Given the description of an element on the screen output the (x, y) to click on. 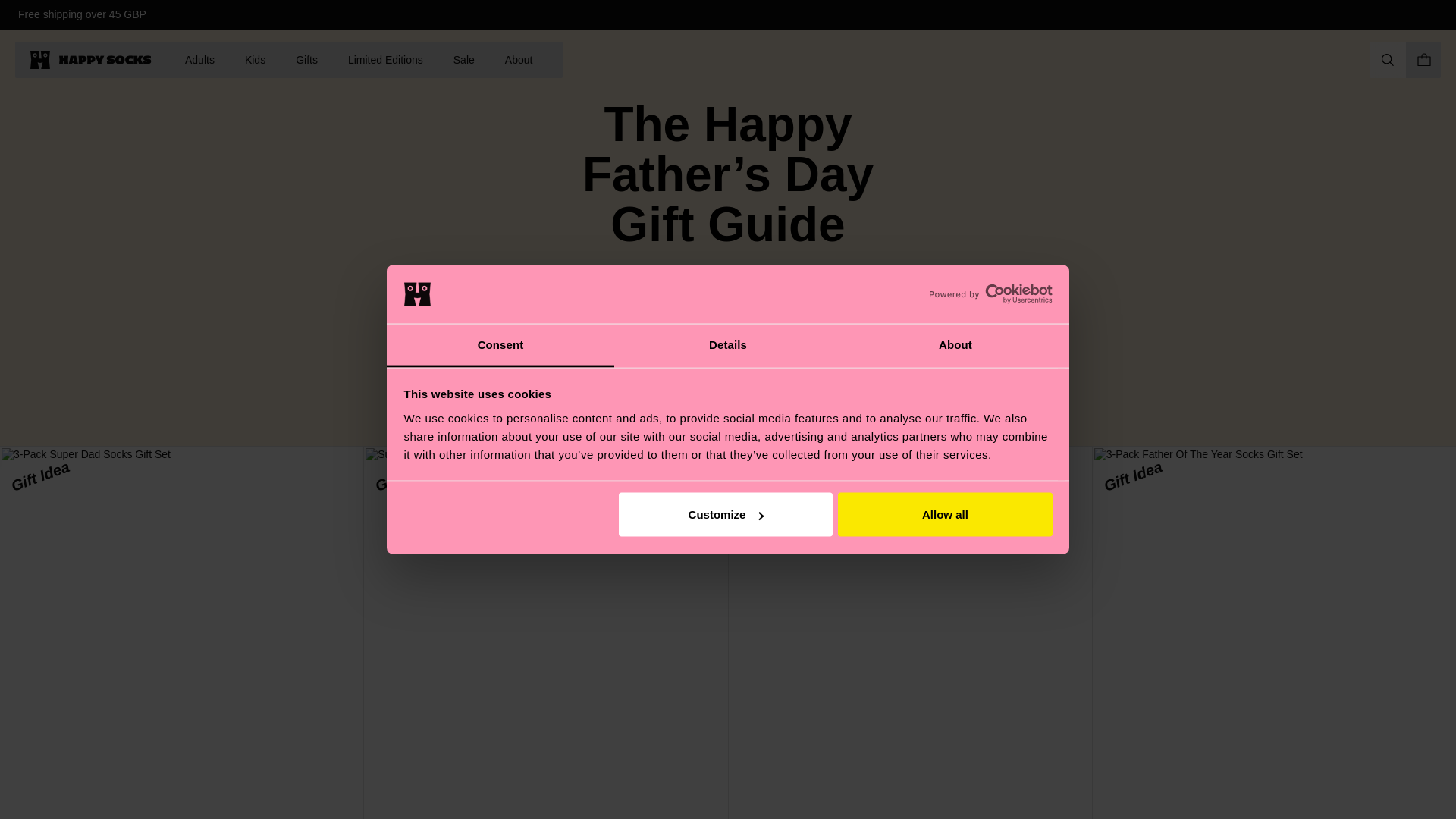
Consent (500, 344)
About (954, 344)
Details (727, 344)
